Given the description of an element on the screen output the (x, y) to click on. 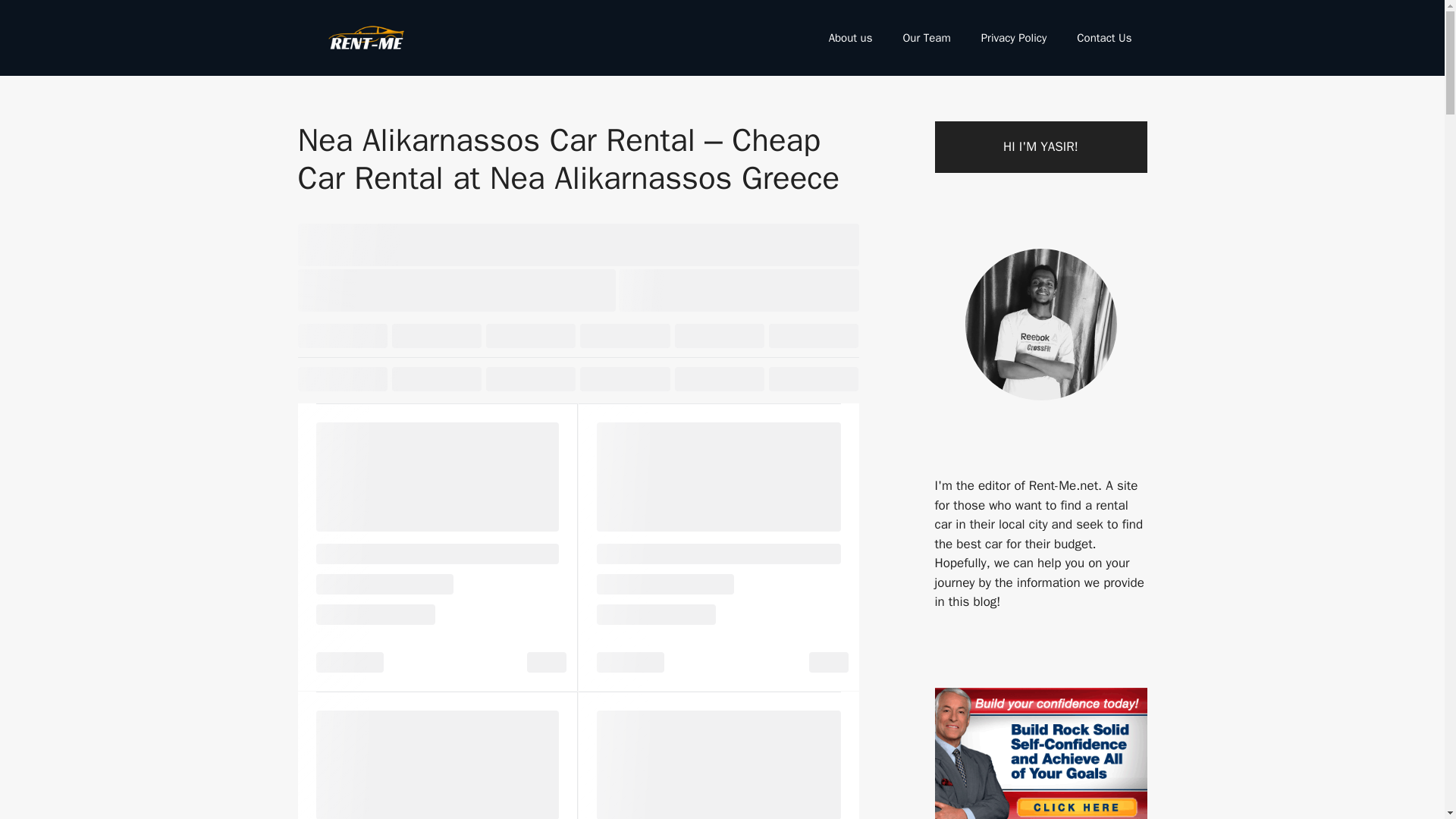
Our Team (925, 37)
Privacy Policy (1014, 37)
Contact Us (1104, 37)
About us (850, 37)
